Given the description of an element on the screen output the (x, y) to click on. 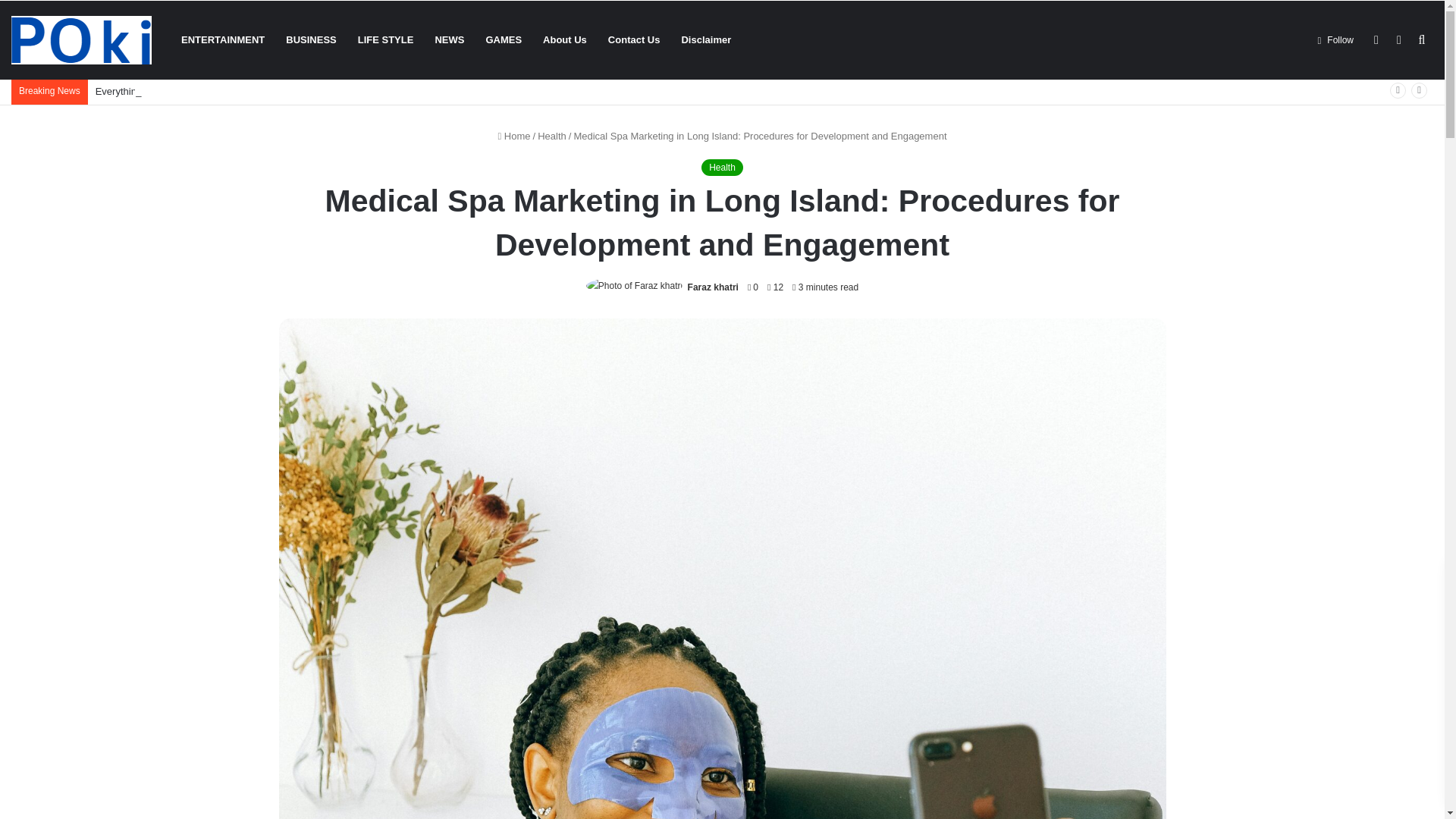
Gaming on the Go: Top Poki Games for Mobile Devices (81, 39)
Faraz khatri (712, 286)
Faraz khatri (712, 286)
Health (721, 167)
Home (513, 135)
Contact Us (633, 39)
BUSINESS (310, 39)
Disclaimer (705, 39)
LIFE STYLE (386, 39)
